Given the description of an element on the screen output the (x, y) to click on. 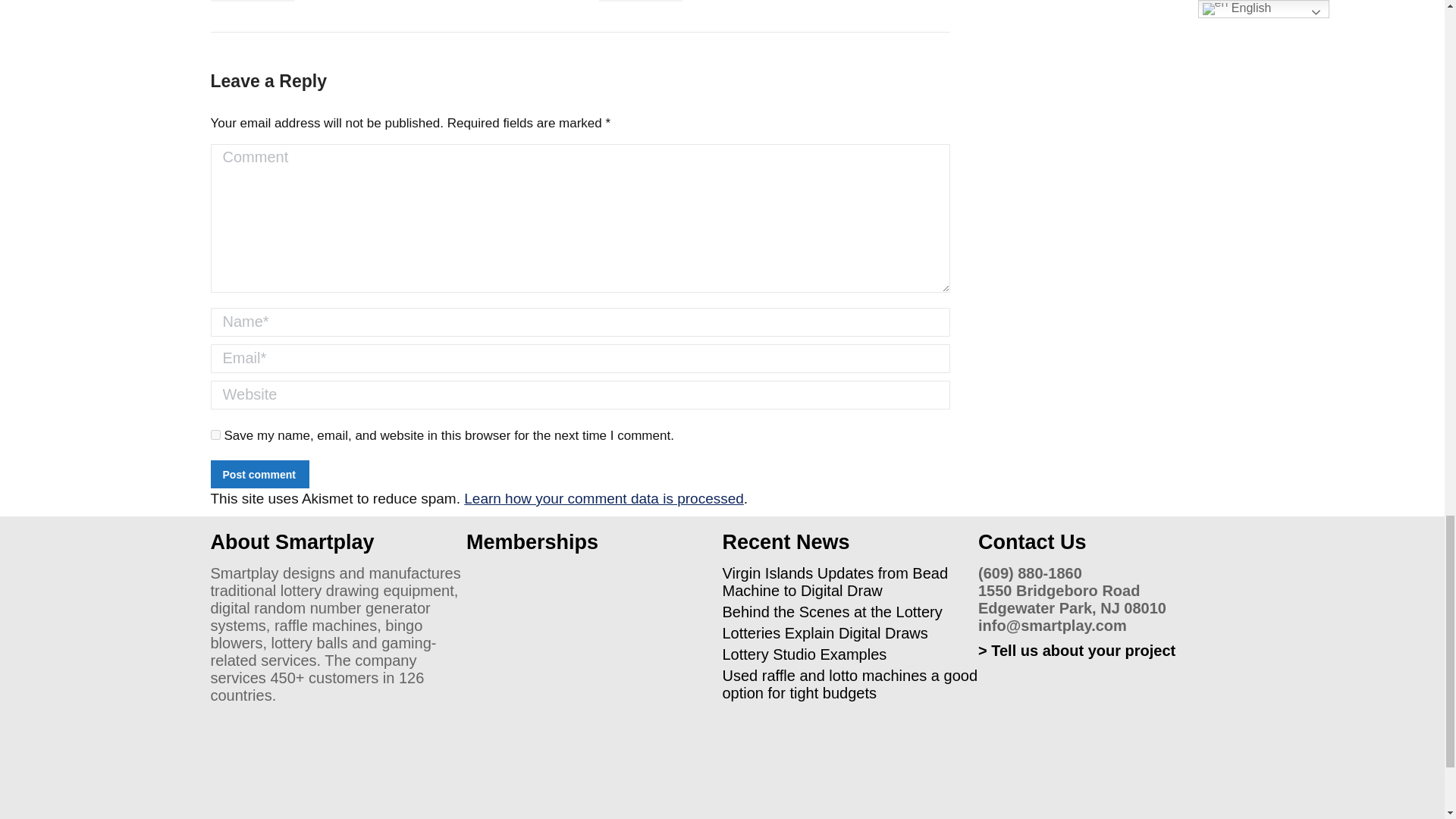
yes (216, 433)
